Given the description of an element on the screen output the (x, y) to click on. 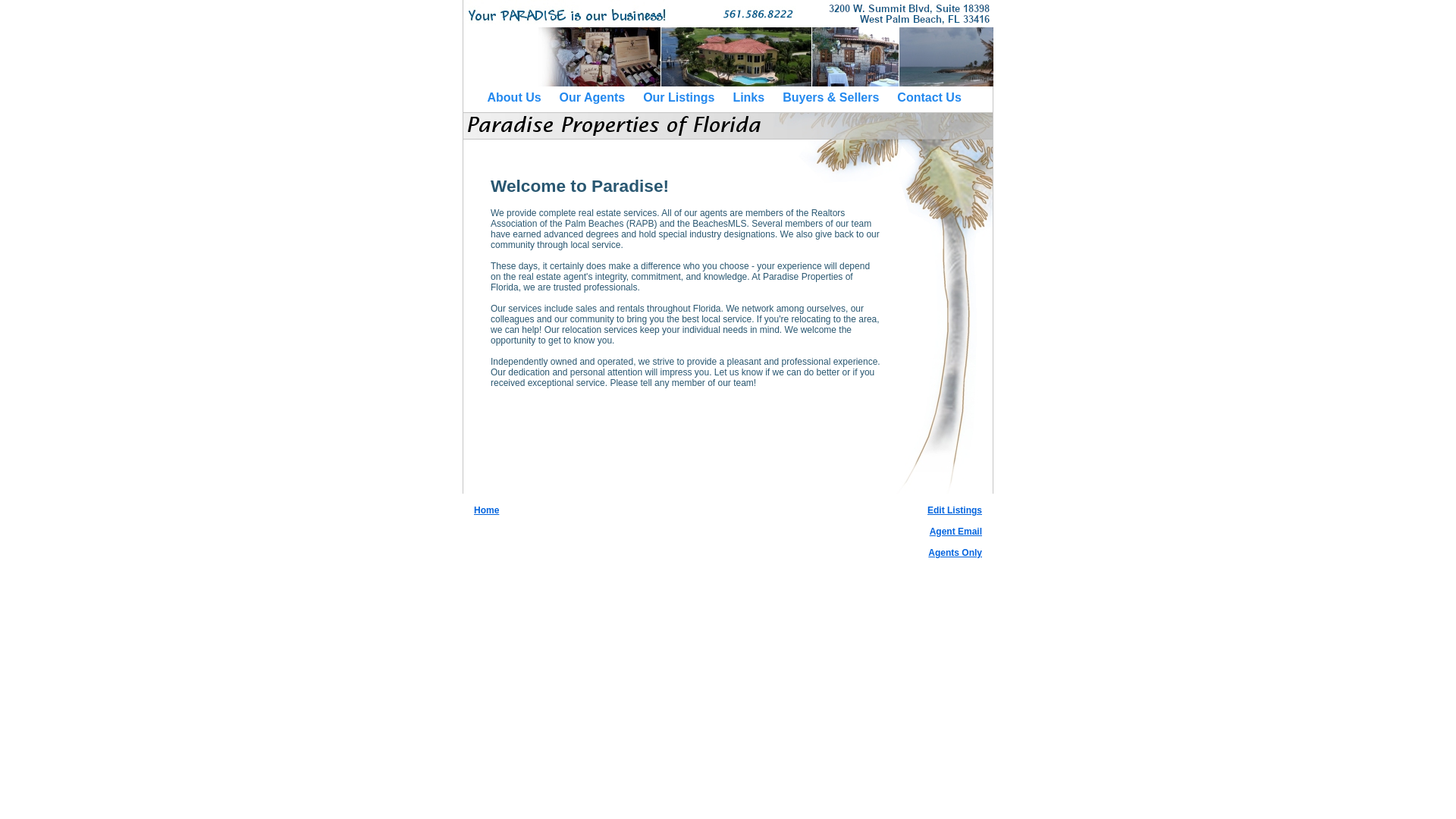
Links (748, 97)
Agents Only (954, 552)
Our Agents (592, 97)
Home (486, 510)
Edit Listings (954, 510)
Our Listings (678, 97)
Contact Us (928, 97)
About Us (513, 97)
Agent Email (955, 531)
